Given the description of an element on the screen output the (x, y) to click on. 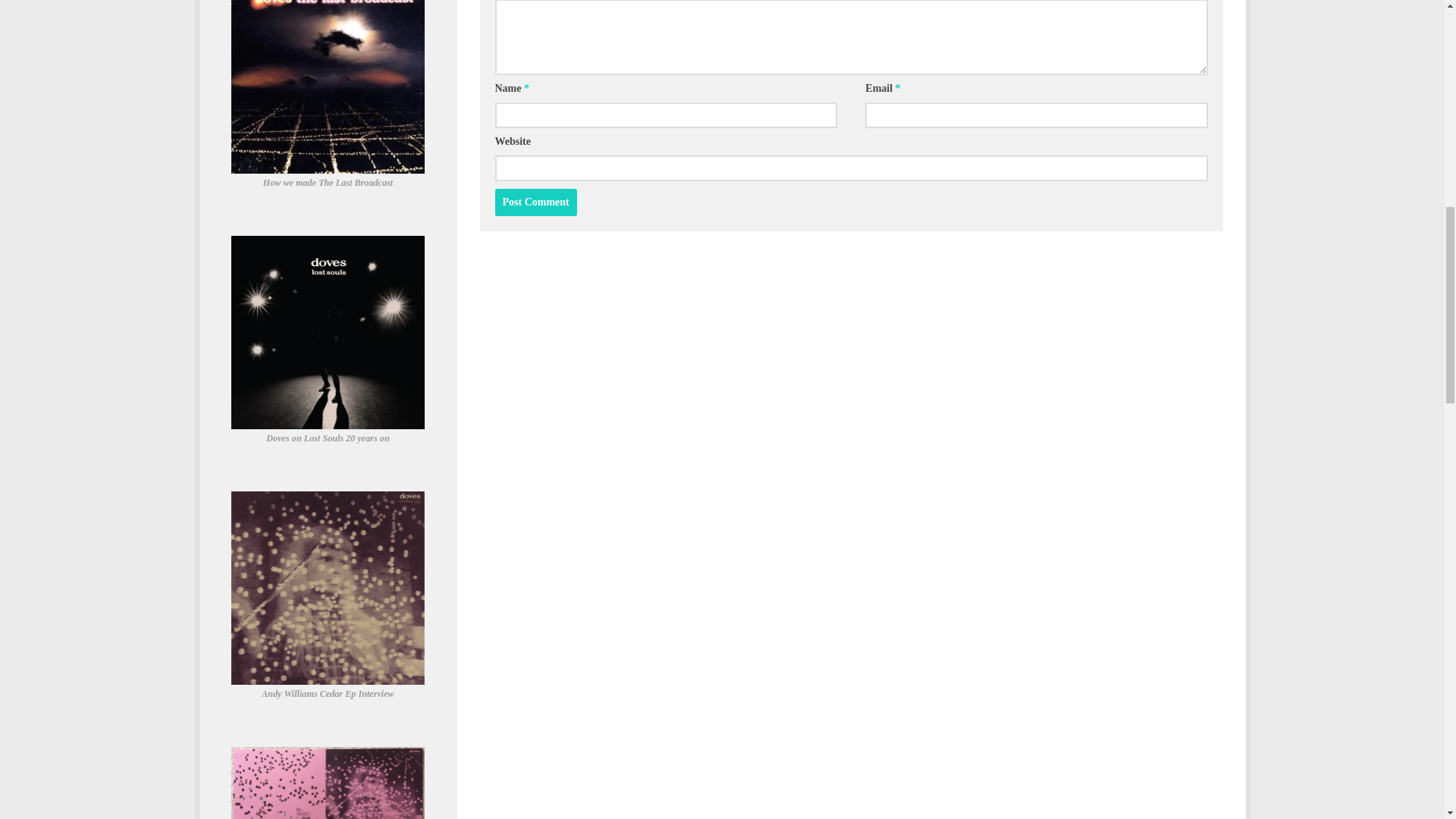
Post Comment (535, 202)
